Given the description of an element on the screen output the (x, y) to click on. 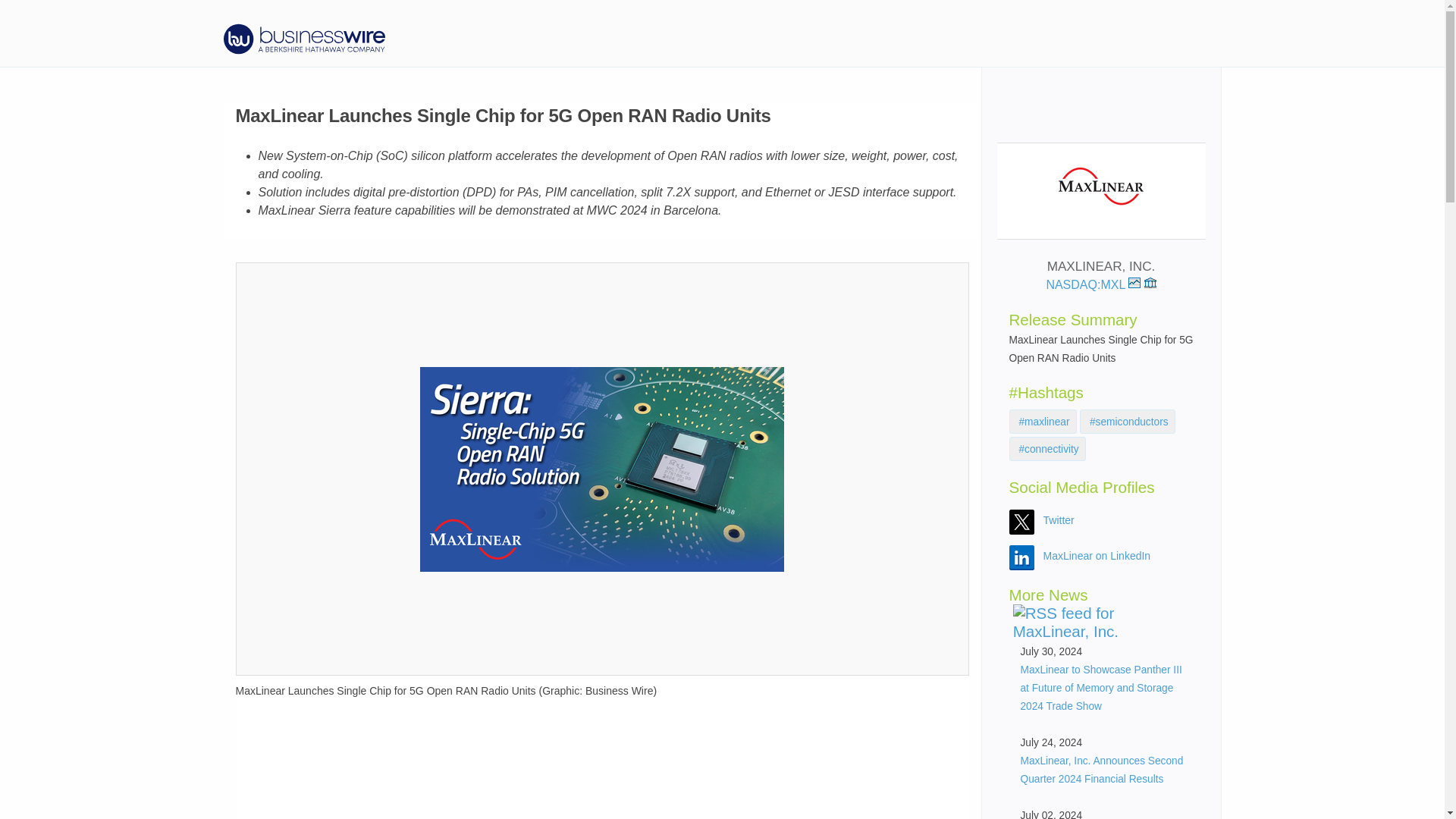
MaxLinear on LinkedIn (1097, 555)
NASDAQ:MXL (1092, 284)
Twitter (1058, 520)
